Given the description of an element on the screen output the (x, y) to click on. 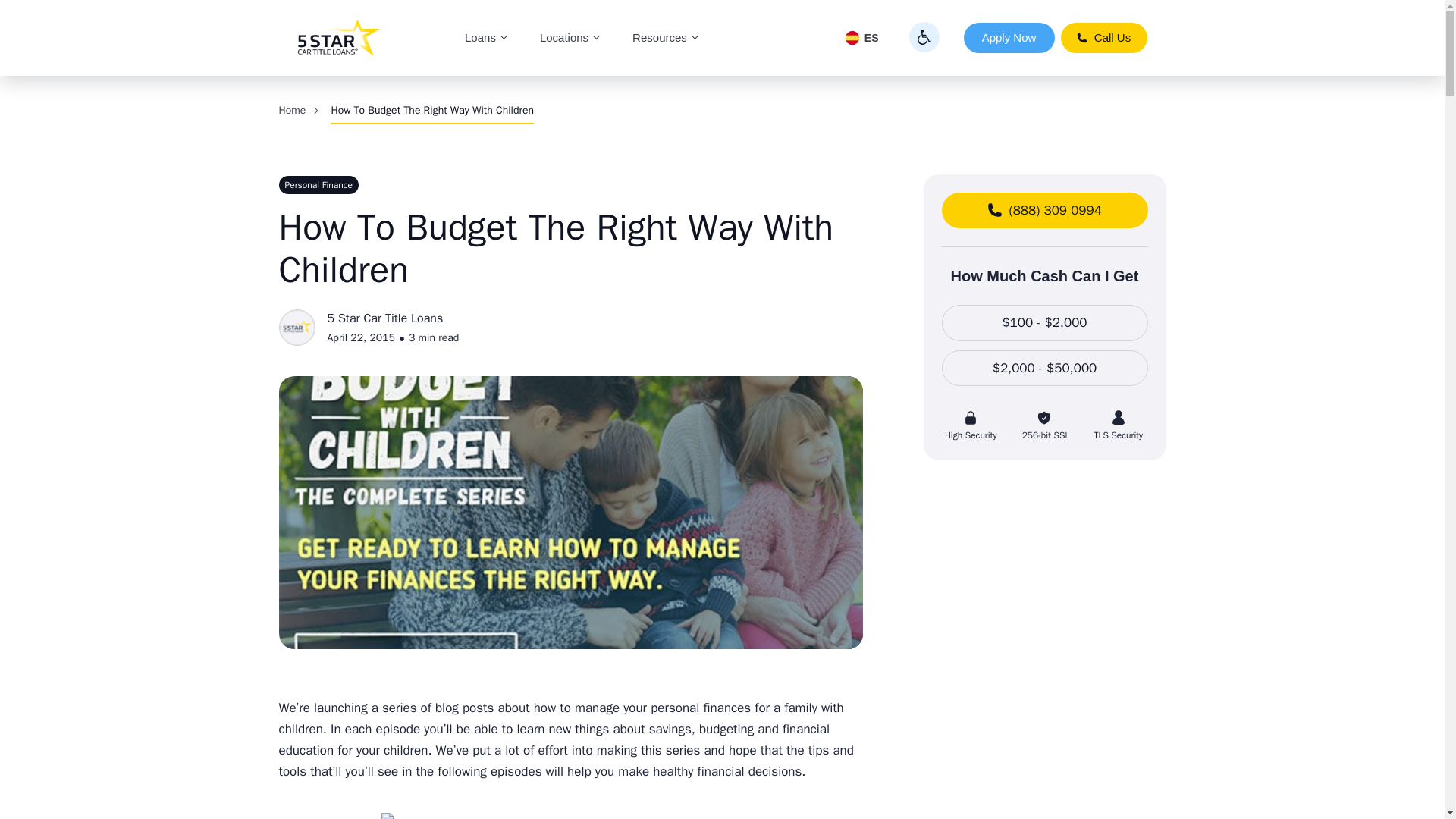
Apply Now (1008, 37)
Home (292, 110)
Call Us (1103, 37)
ES (861, 37)
Loans (486, 37)
Resources (666, 37)
Locations (570, 37)
